Given the description of an element on the screen output the (x, y) to click on. 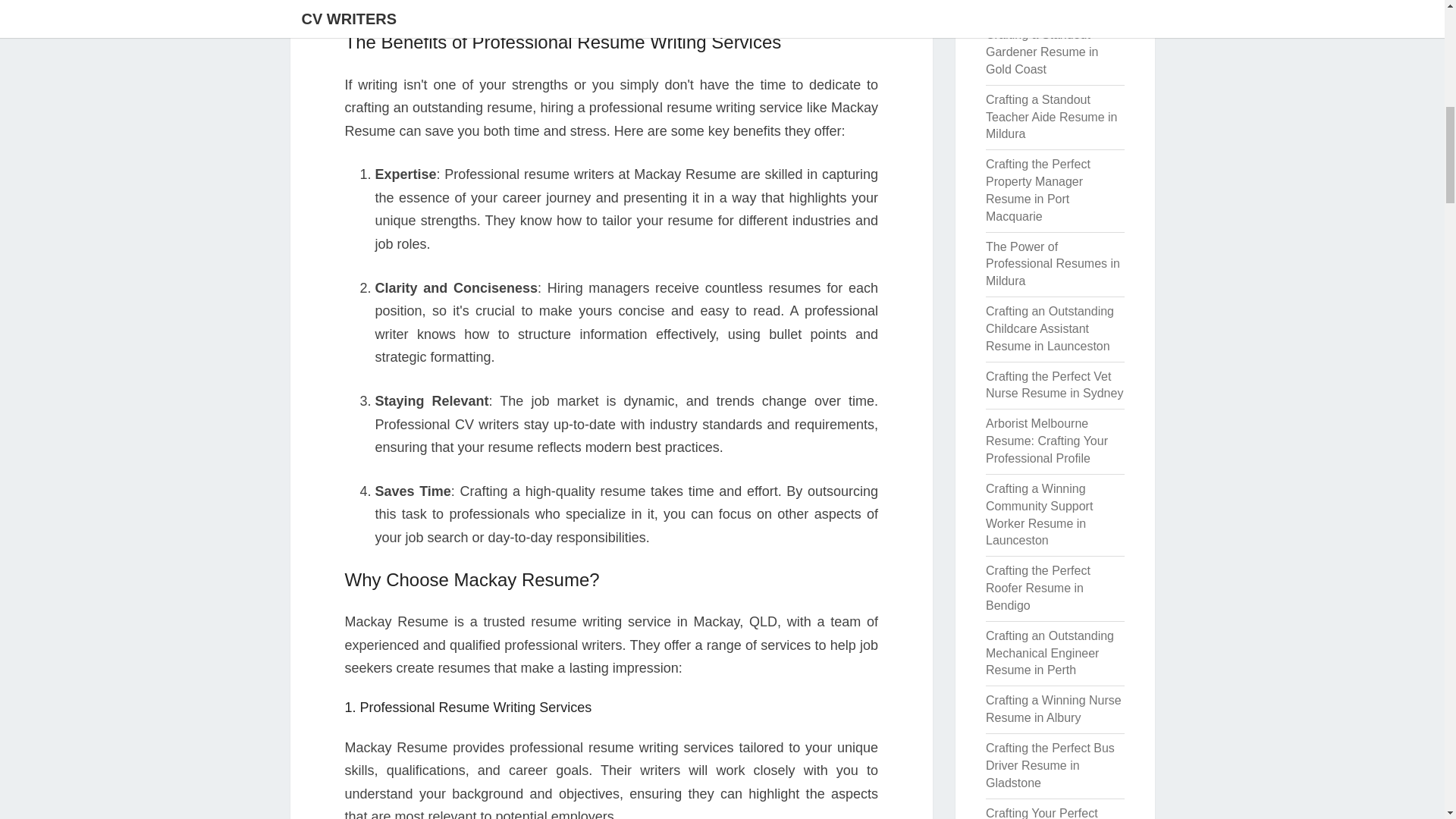
Crafting a Winning Nurse Resume in Albury (1053, 708)
Crafting a Standout Teacher Aide Resume in Mildura (1050, 116)
The Power of Professional Resumes in Mildura (1052, 264)
Crafting the Perfect Bus Driver Resume in Gladstone (1050, 765)
Crafting Your Perfect Executive Assistant Resume in Brisbane (1041, 812)
Crafting the Perfect Roofer Resume in Bendigo (1037, 587)
